Given the description of an element on the screen output the (x, y) to click on. 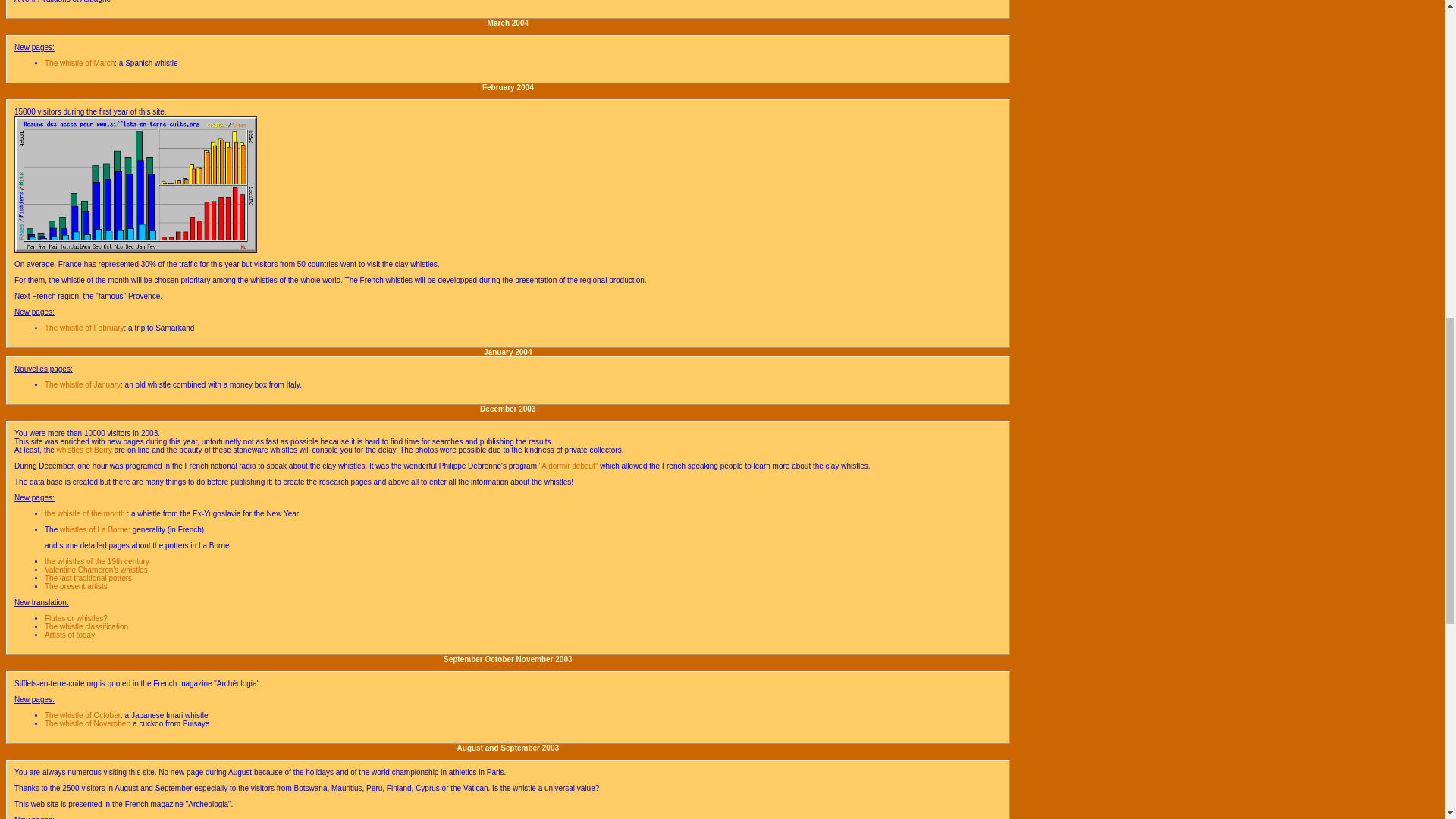
The whistle classification (86, 626)
the whistles of the 19th century (97, 561)
"A dormir debout" (568, 465)
The last traditional potters (88, 578)
The whistle of October (82, 715)
whistles of La Borne: (95, 529)
The whistle of March (80, 62)
Valentine Chameron's whistles (96, 569)
The whistle of January (82, 384)
whistles of Berry (84, 449)
Flutes or whistles? (76, 618)
the whistle of the month (85, 513)
Artists of today (69, 634)
The present artists (76, 586)
The whistle of February (84, 327)
